Given the description of an element on the screen output the (x, y) to click on. 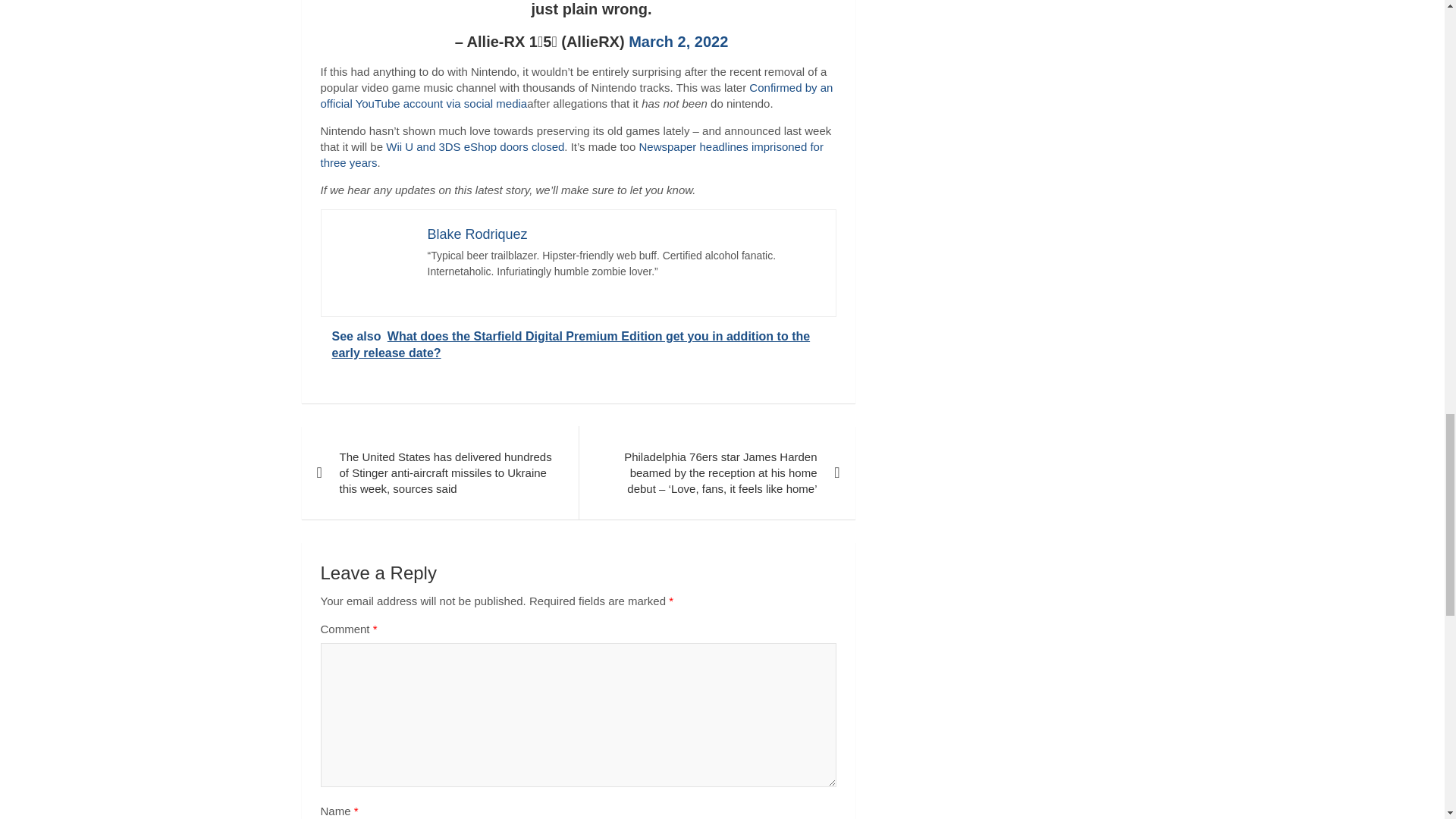
Wii U and 3DS eShop doors closed (474, 146)
Newspaper headlines imprisoned for three years (571, 154)
March 2, 2022 (678, 41)
Confirmed by an official YouTube account via social media (576, 95)
Blake Rodriquez (477, 233)
